Given the description of an element on the screen output the (x, y) to click on. 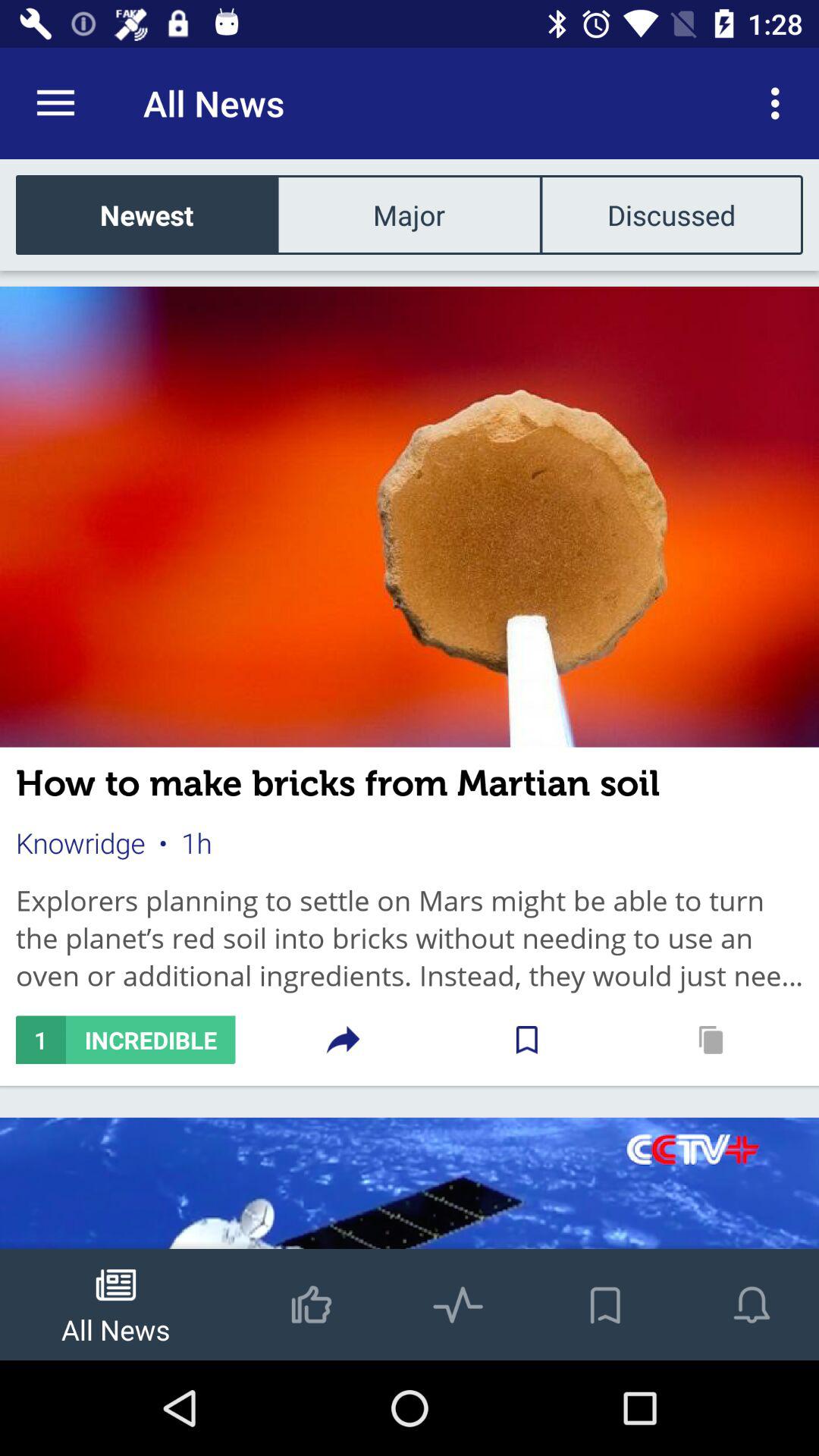
turn off item to the right of the all news (779, 103)
